Given the description of an element on the screen output the (x, y) to click on. 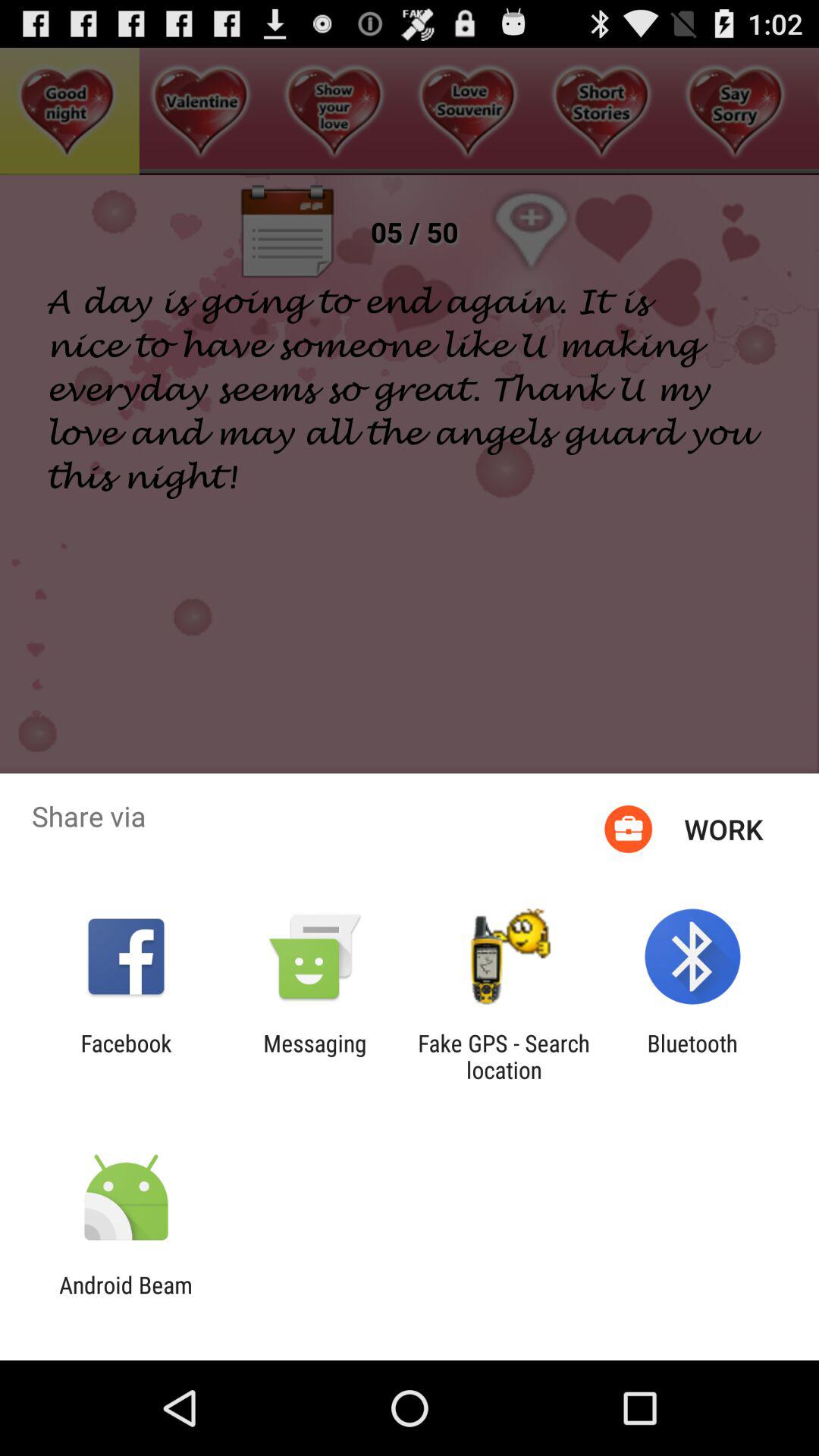
swipe to bluetooth app (692, 1056)
